Given the description of an element on the screen output the (x, y) to click on. 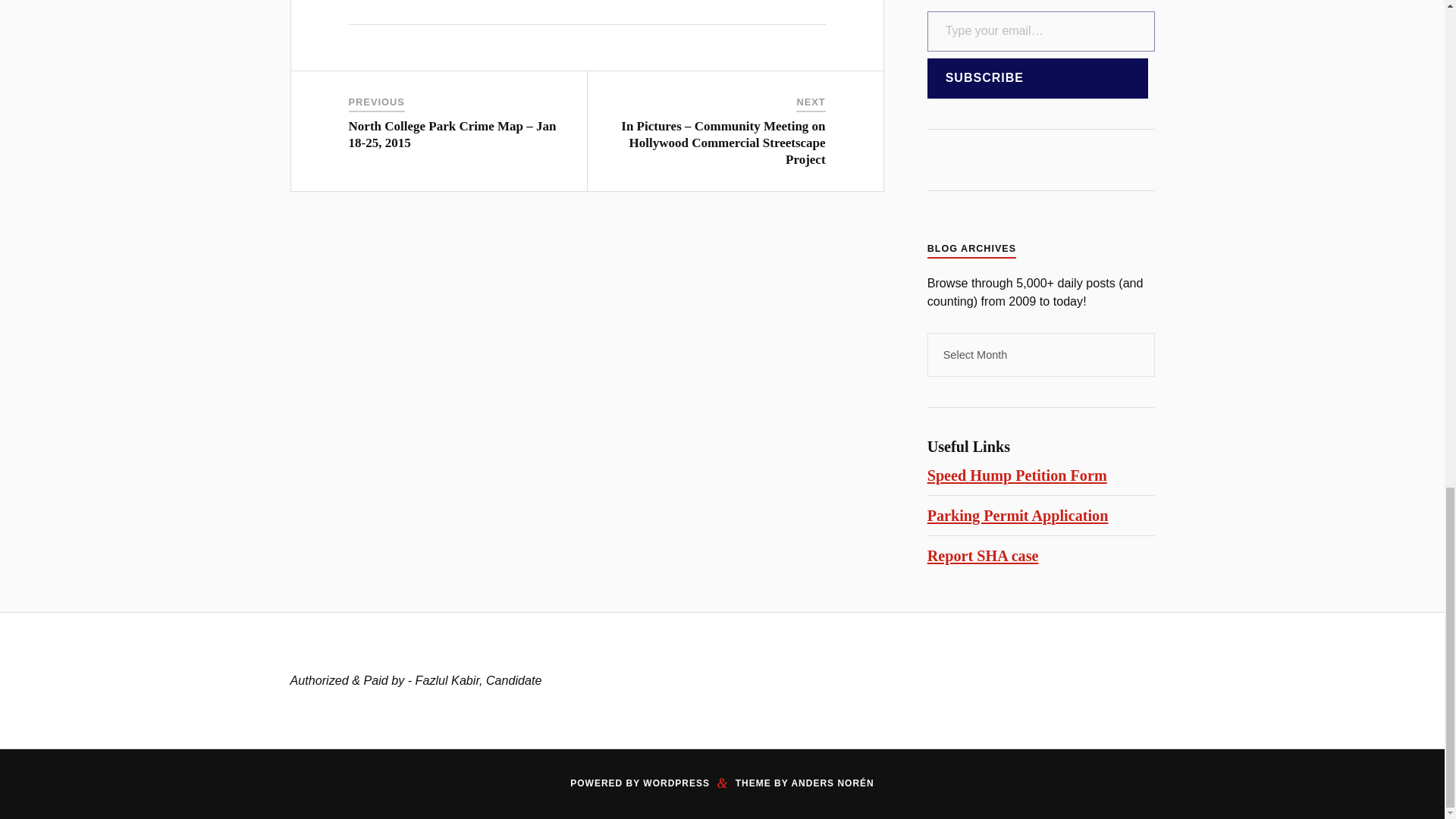
SUBSCRIBE (1037, 78)
Speed Hump Petition Form (1016, 475)
Parking Permit Application (1017, 515)
Report SHA case (983, 555)
WORDPRESS (676, 783)
Please fill in this field. (1040, 31)
